Given the description of an element on the screen output the (x, y) to click on. 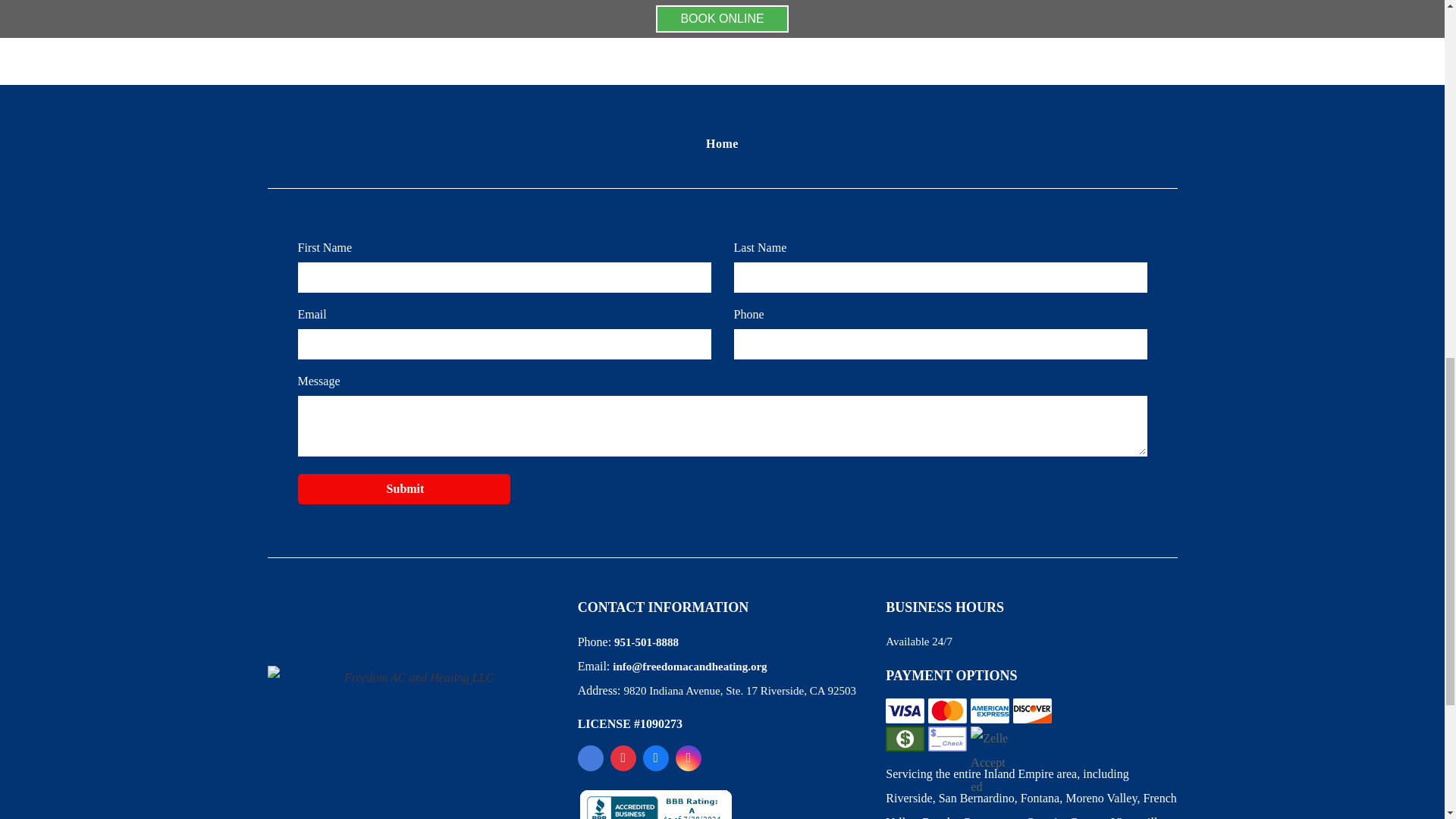
951-501-8888 (646, 642)
Submit (404, 489)
Submit (404, 489)
Home (721, 143)
Freedom AC and Heating LLC (411, 726)
